Given the description of an element on the screen output the (x, y) to click on. 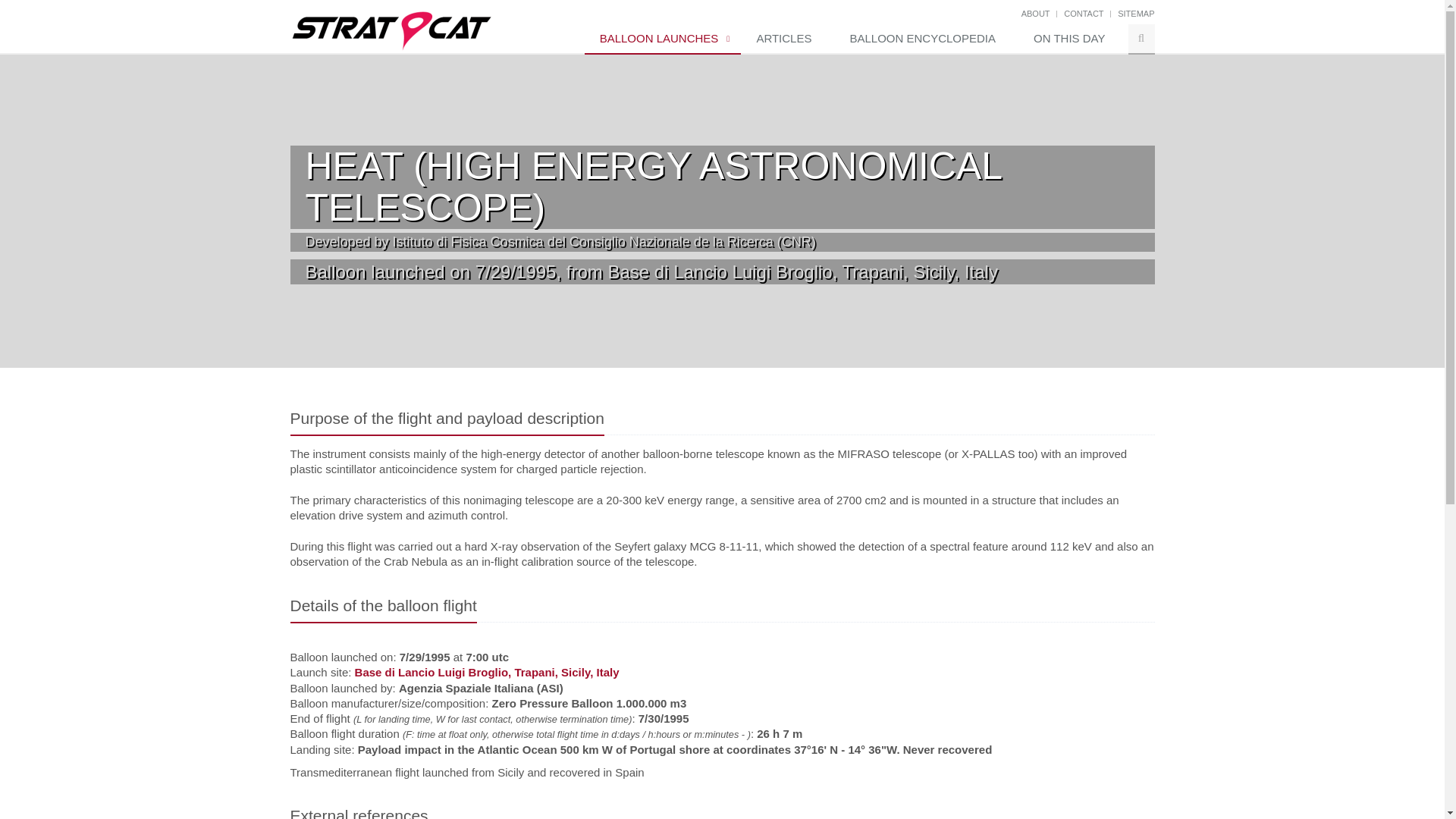
BALLOON ENCYCLOPEDIA (925, 39)
BALLOON LAUNCHES (663, 39)
Base di Lancio Luigi Broglio, Trapani, Sicily, Italy (487, 671)
SITEMAP (1136, 13)
CONTACT (1083, 13)
ABOUT (1035, 13)
ARTICLES (787, 39)
ON THIS DAY (1071, 39)
